Given the description of an element on the screen output the (x, y) to click on. 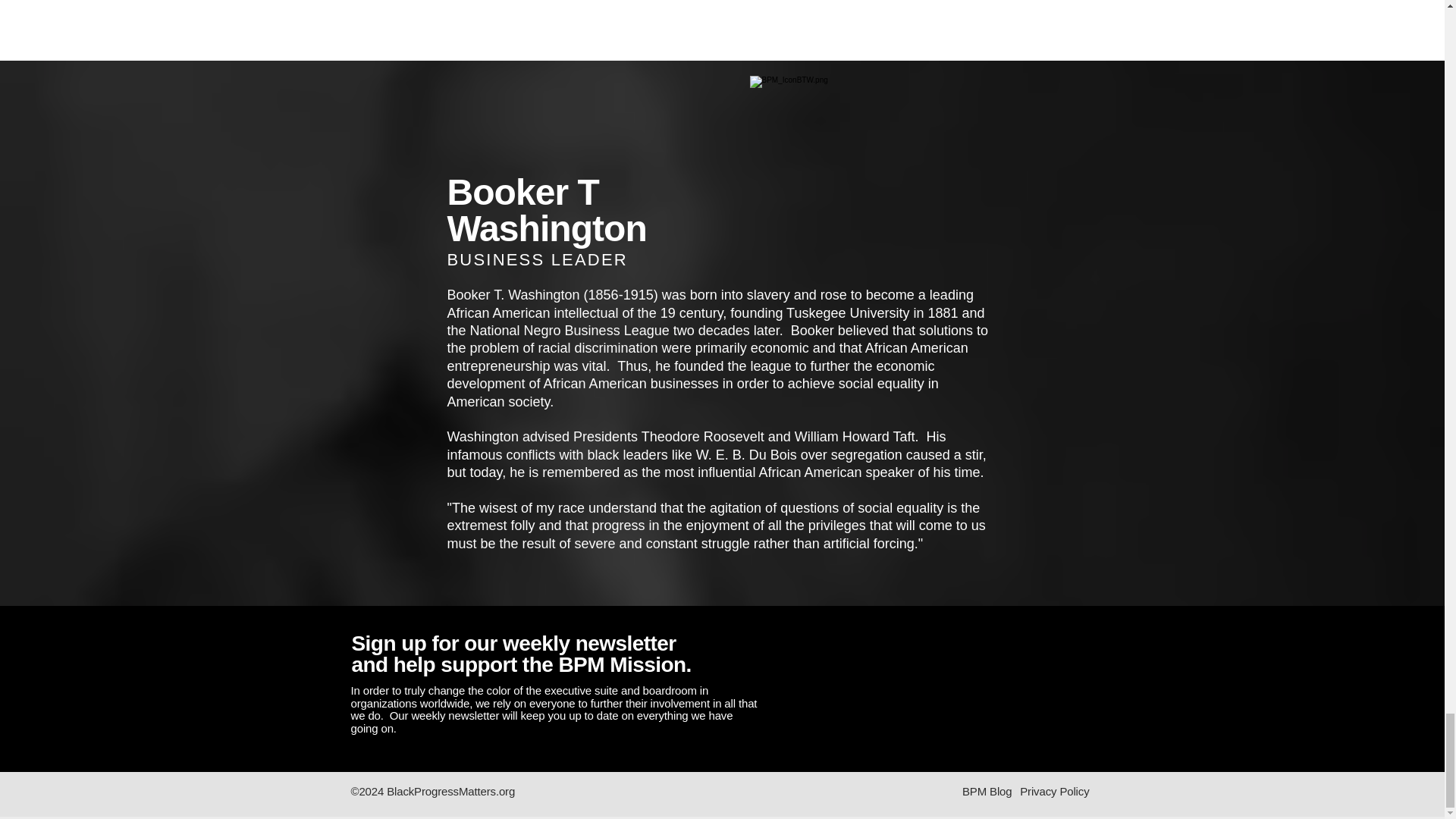
Privacy Policy (1054, 790)
BPM Blog (986, 790)
Embedded Content (933, 687)
